Given the description of an element on the screen output the (x, y) to click on. 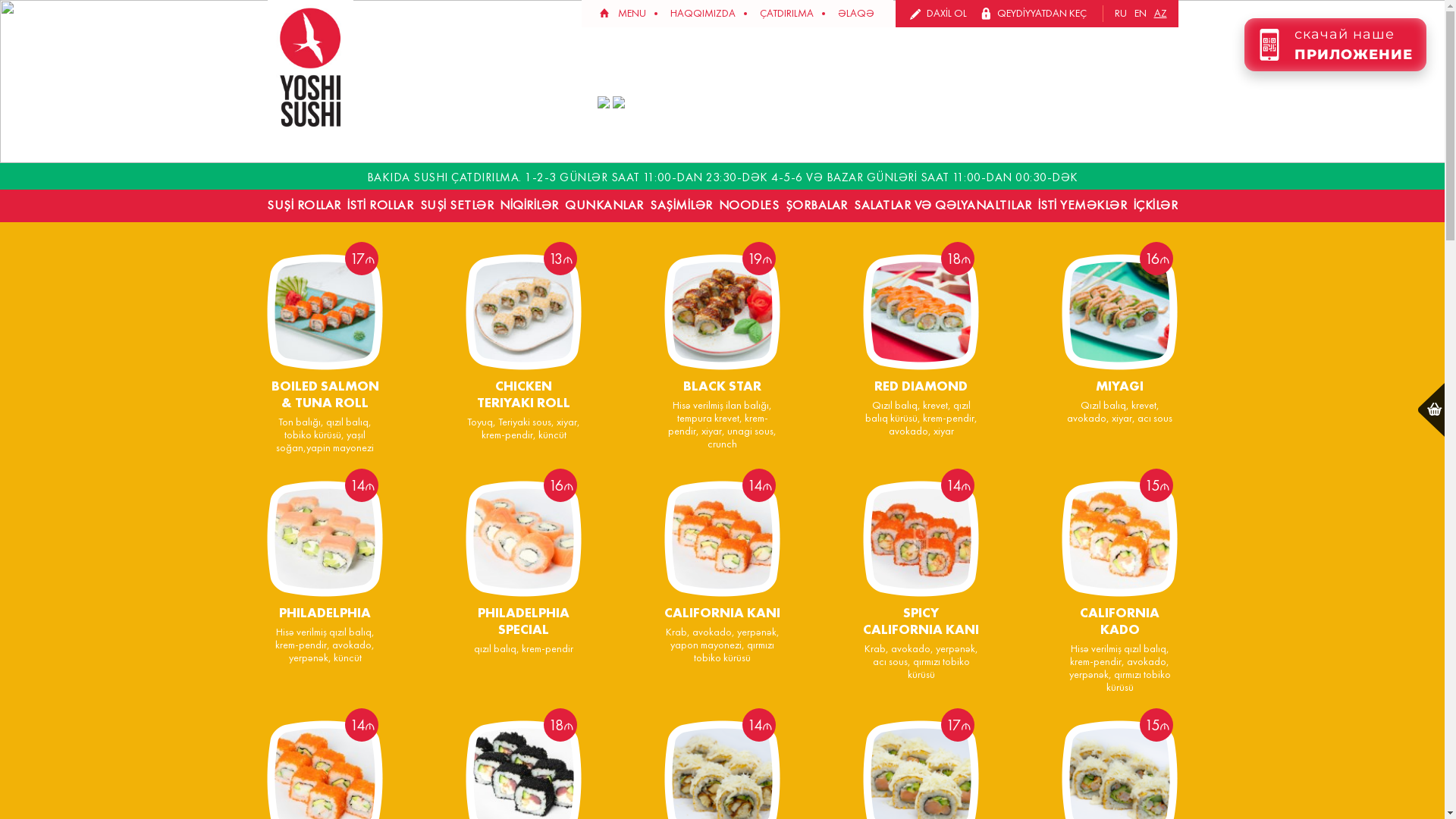
AZ Element type: text (1159, 12)
NOODLES Element type: text (748, 204)
QUNKANLAR Element type: text (603, 204)
RU Element type: text (1119, 12)
EN Element type: text (1139, 12)
MENU Element type: text (631, 13)
HAQQIMIZDA Element type: text (702, 13)
